Given the description of an element on the screen output the (x, y) to click on. 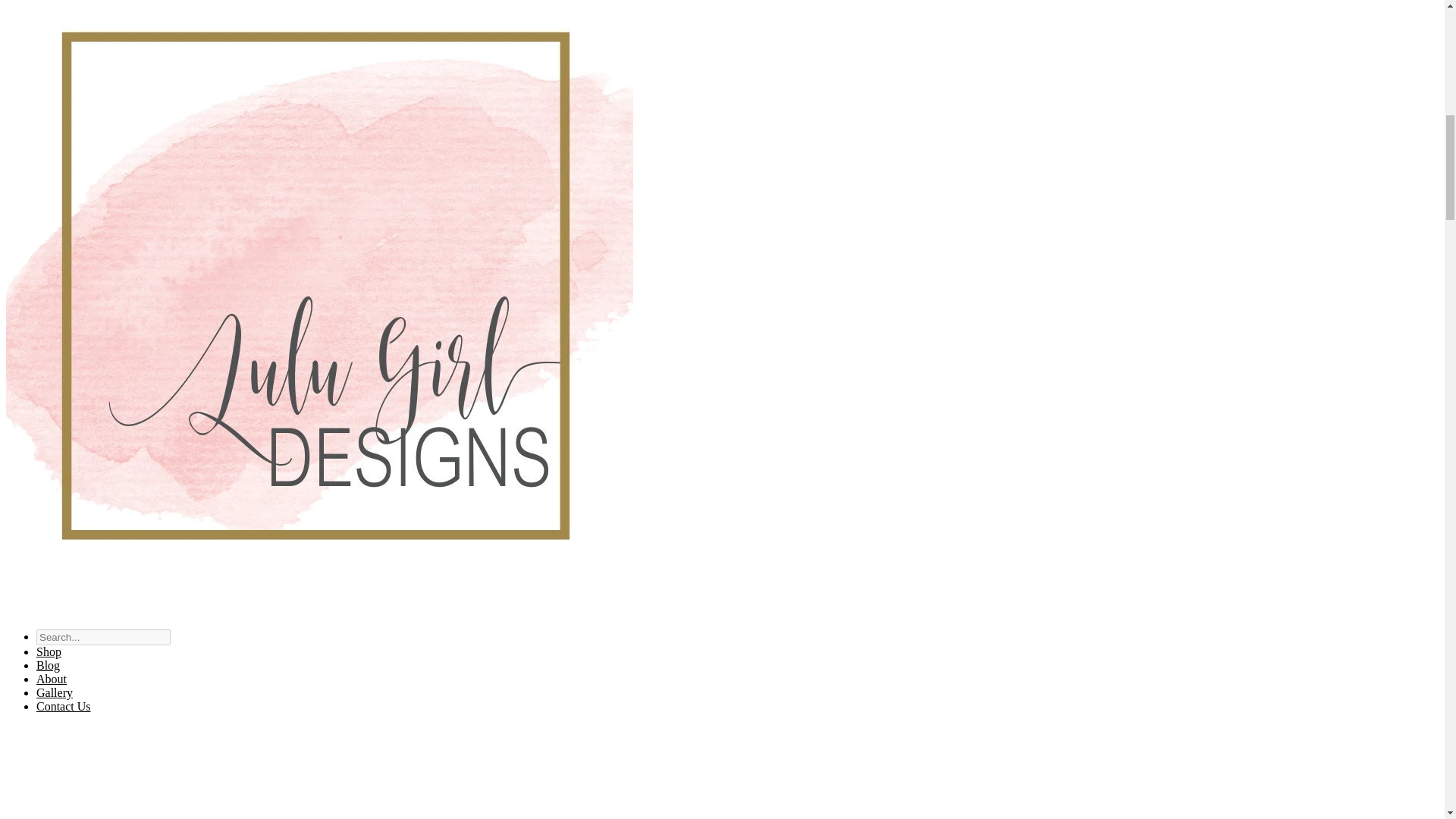
Gallery (54, 692)
Shop (48, 651)
About (51, 678)
Contact Us (63, 706)
Blog (47, 665)
